Given the description of an element on the screen output the (x, y) to click on. 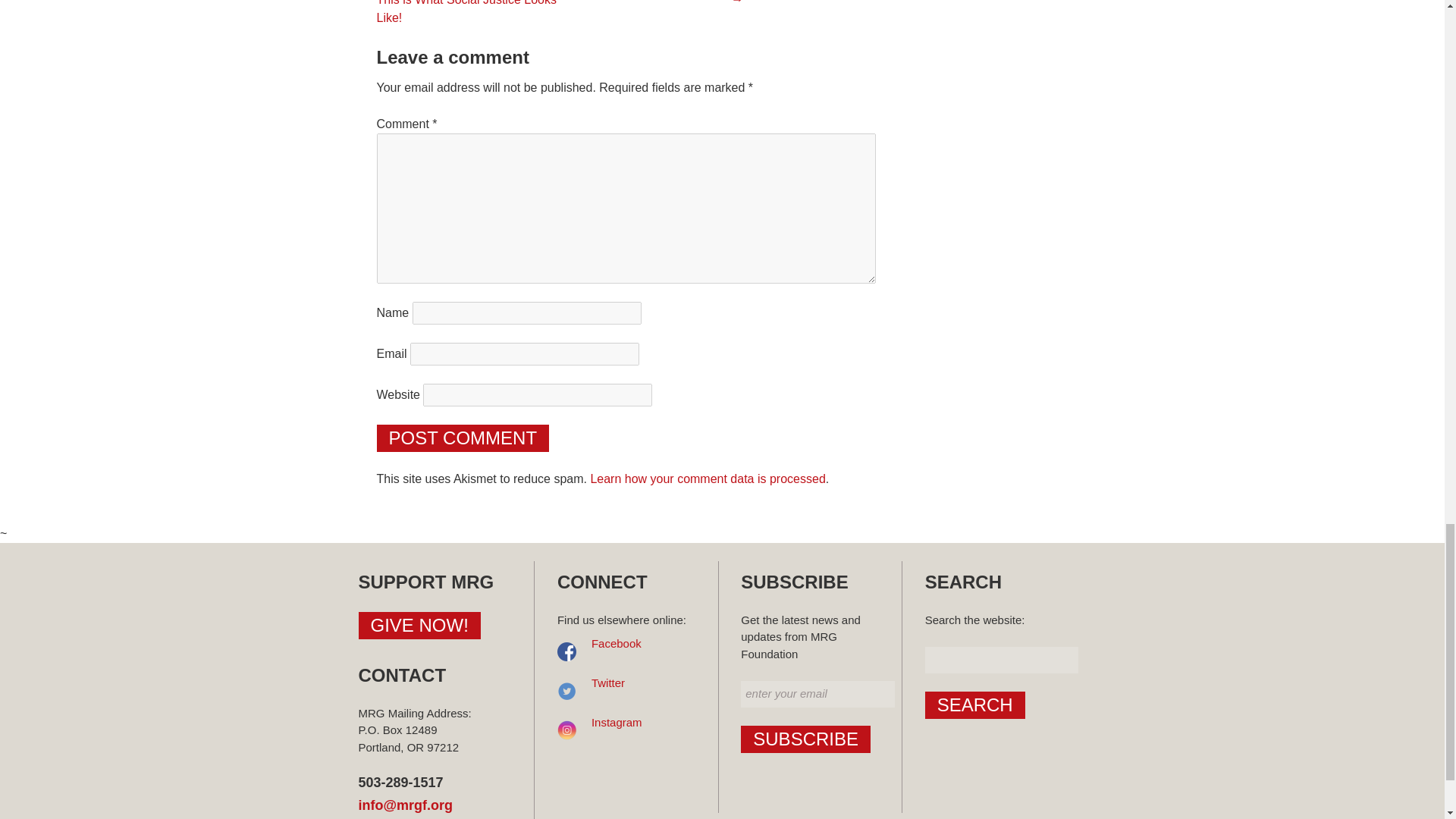
Search (974, 705)
Search (974, 705)
Post Comment (461, 438)
Post Comment (461, 438)
enter your email (818, 693)
Subscribe (805, 738)
